Given the description of an element on the screen output the (x, y) to click on. 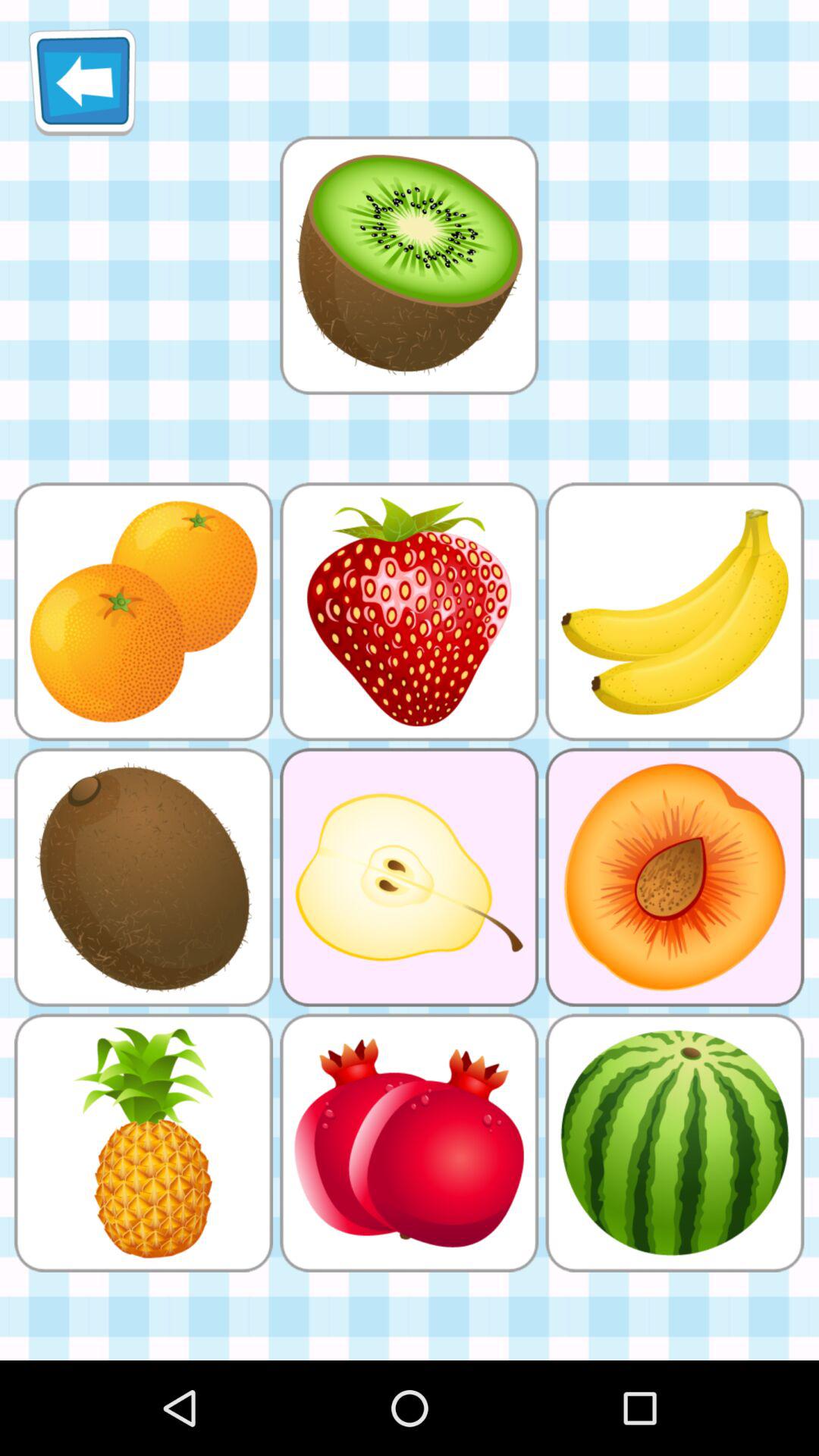
select the item (409, 265)
